Given the description of an element on the screen output the (x, y) to click on. 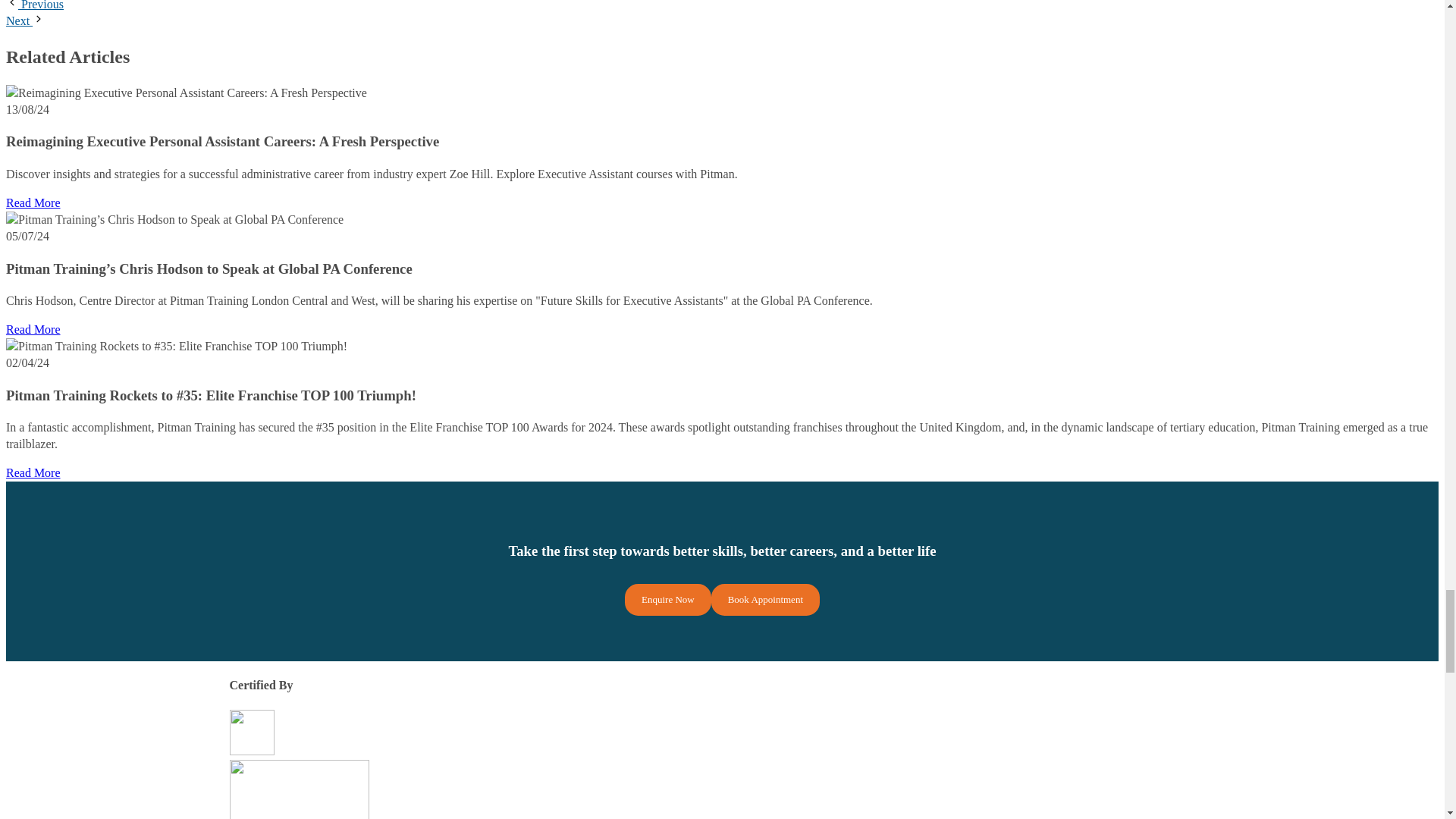
Cracking that Hard Exterior (34, 5)
Read More (33, 202)
Read More (33, 328)
Read More (33, 472)
